Given the description of an element on the screen output the (x, y) to click on. 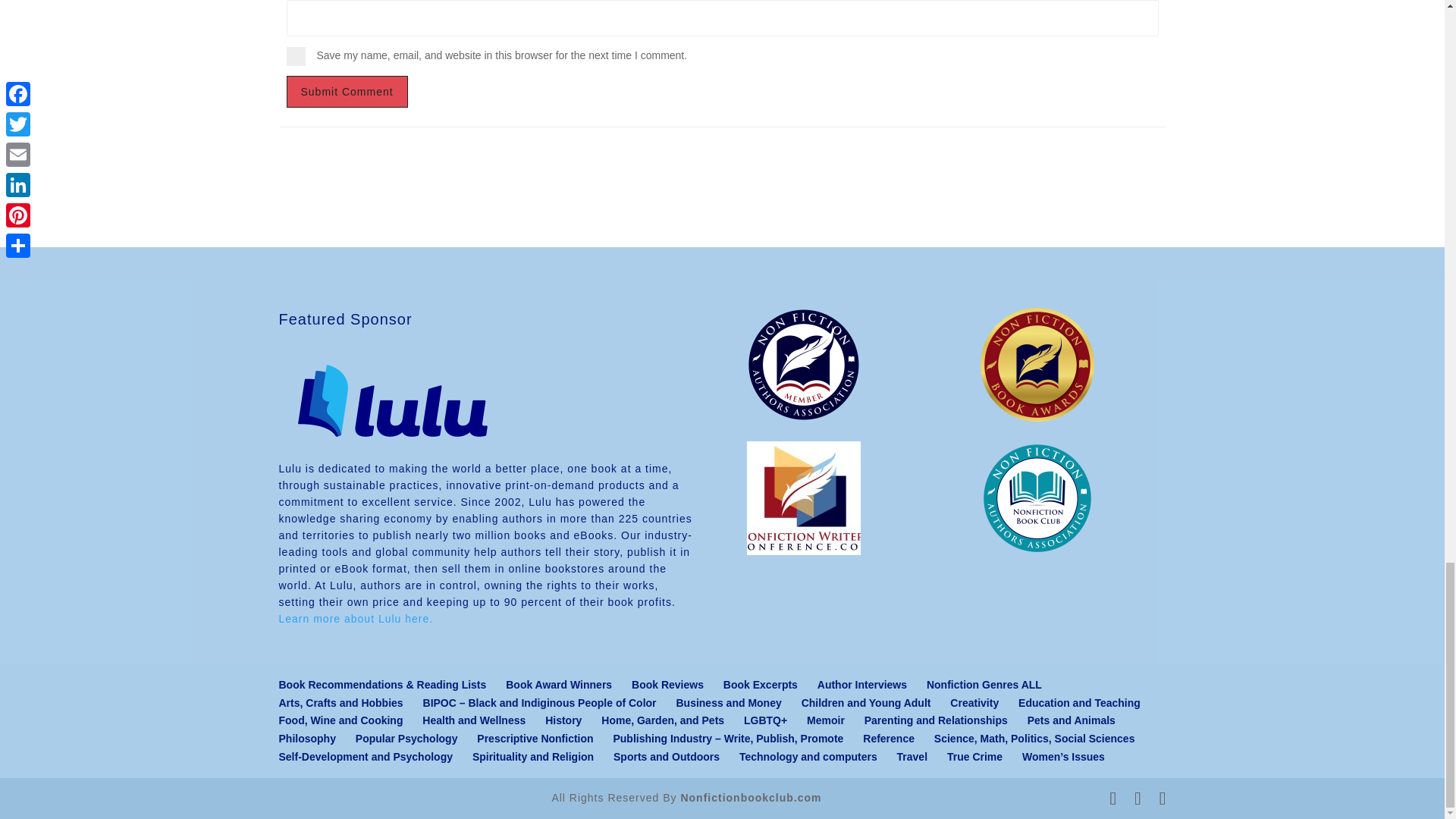
NONFICTION BOOK CLUB (1036, 498)
Featured Sponsor (392, 451)
Submit Comment (346, 91)
